Given the description of an element on the screen output the (x, y) to click on. 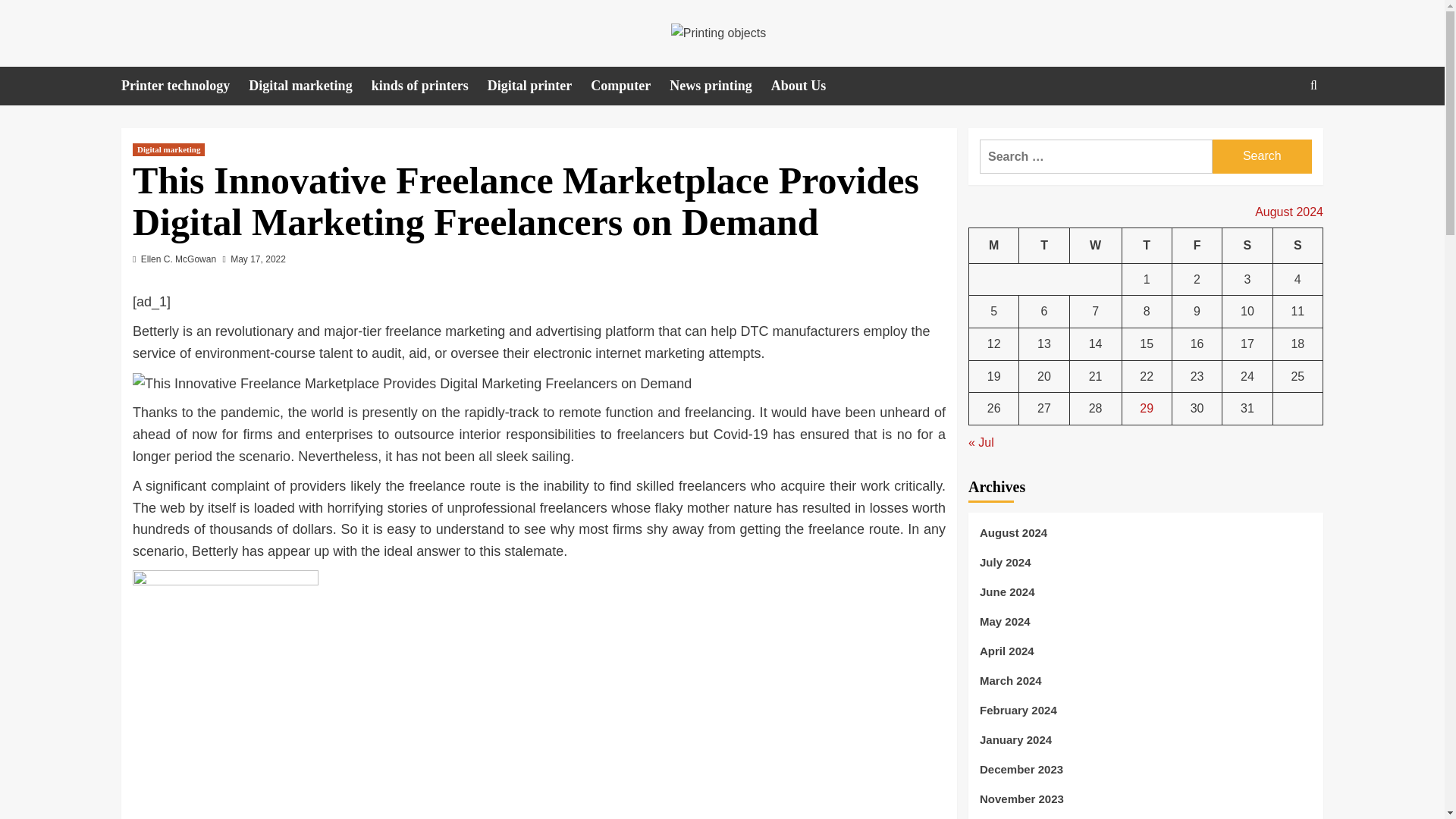
Saturday (1247, 245)
News printing (720, 85)
Digital marketing (309, 85)
Sunday (1297, 245)
Search (1278, 132)
Friday (1196, 245)
Thursday (1146, 245)
Tuesday (1043, 245)
Monday (994, 245)
Digital marketing (168, 149)
